Given the description of an element on the screen output the (x, y) to click on. 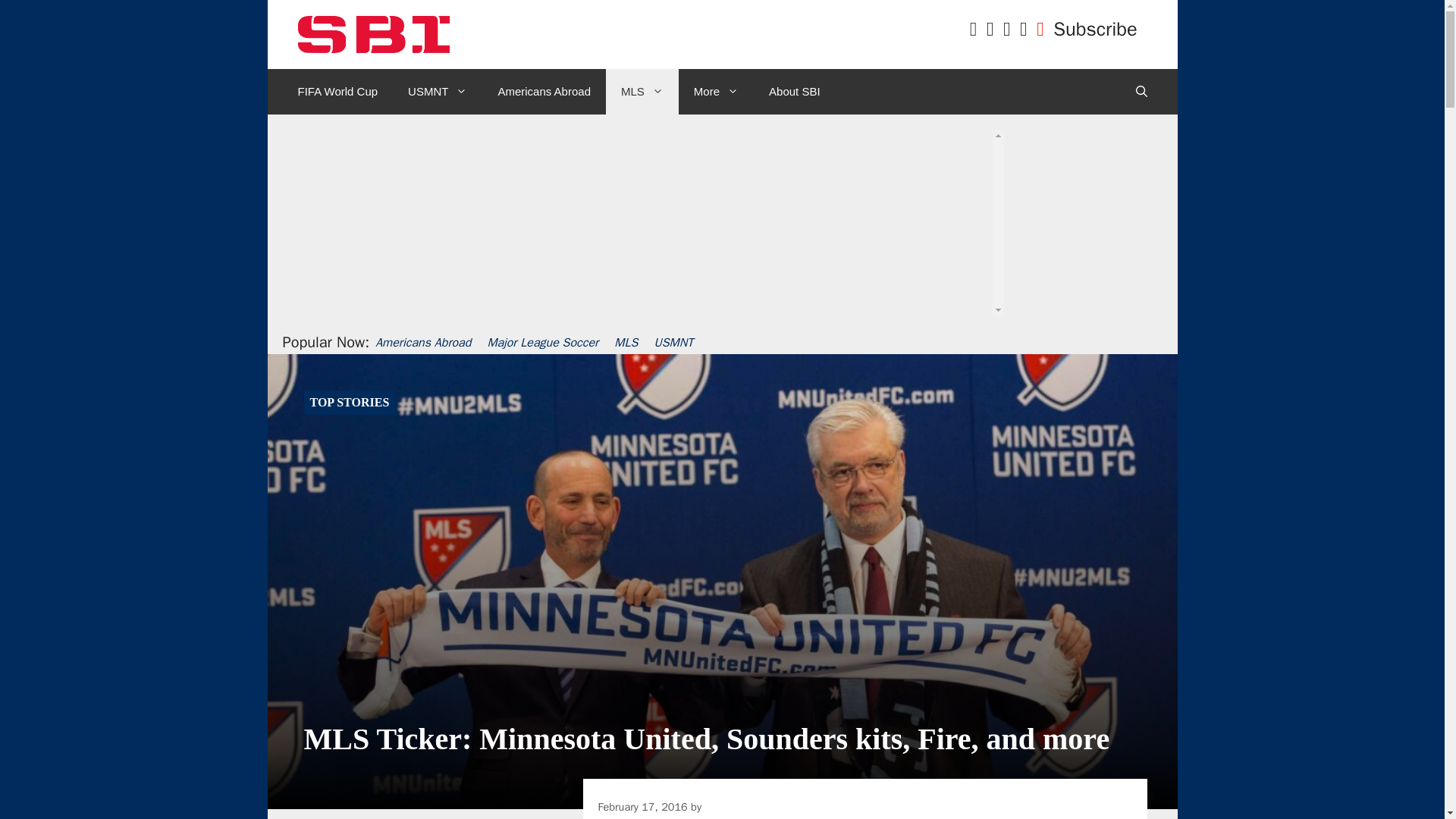
Americans Abroad (543, 91)
FIFA World Cup (337, 91)
USMNT (437, 91)
MLS (641, 91)
Subscribe (1094, 28)
